Given the description of an element on the screen output the (x, y) to click on. 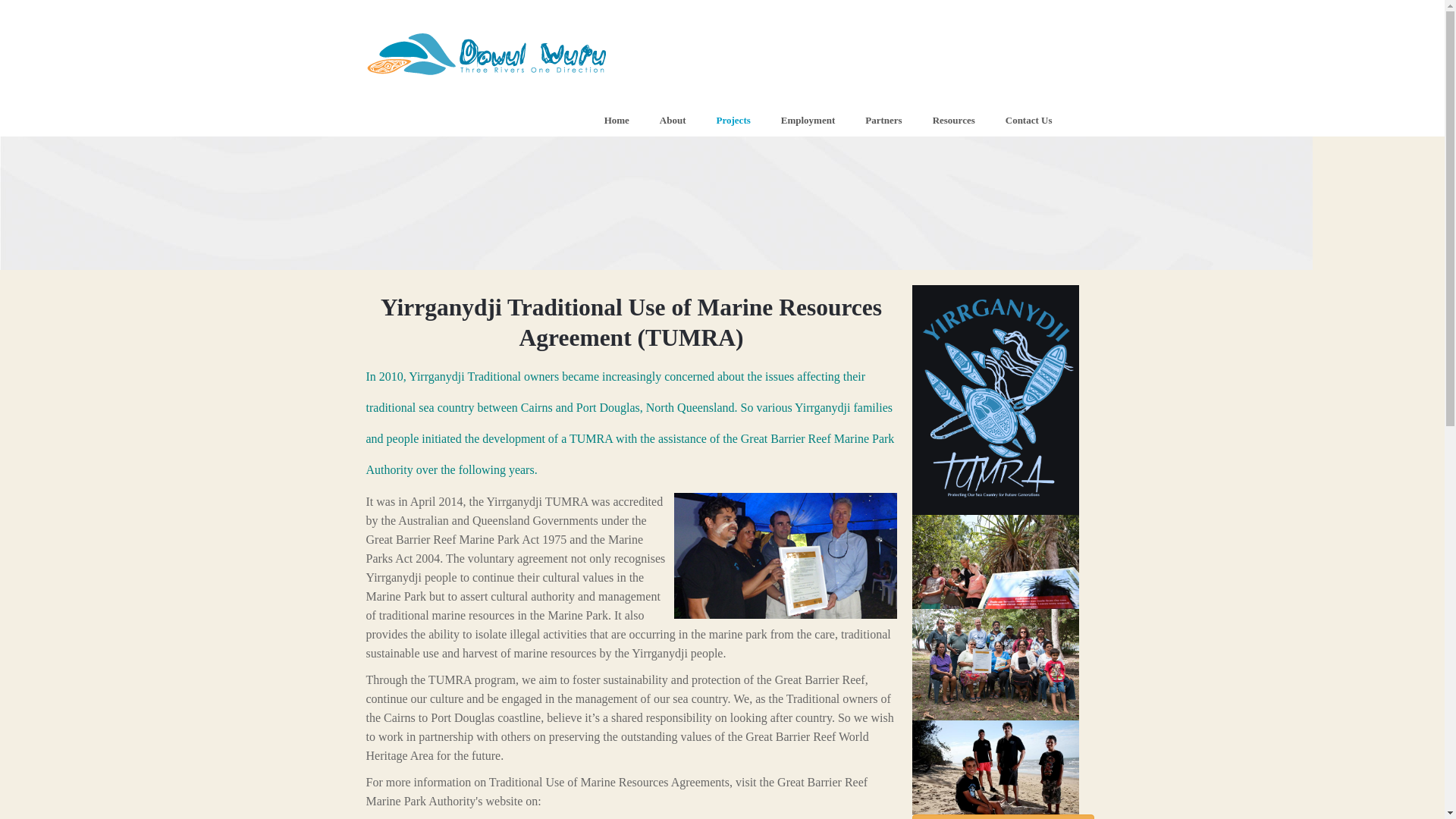
Home (616, 120)
Projects (732, 120)
Contact Us (1029, 120)
Home (378, 119)
Employment (808, 120)
Resources (954, 120)
About (672, 120)
Projects (420, 119)
Contact Us (1002, 816)
Partners (882, 120)
